Given the description of an element on the screen output the (x, y) to click on. 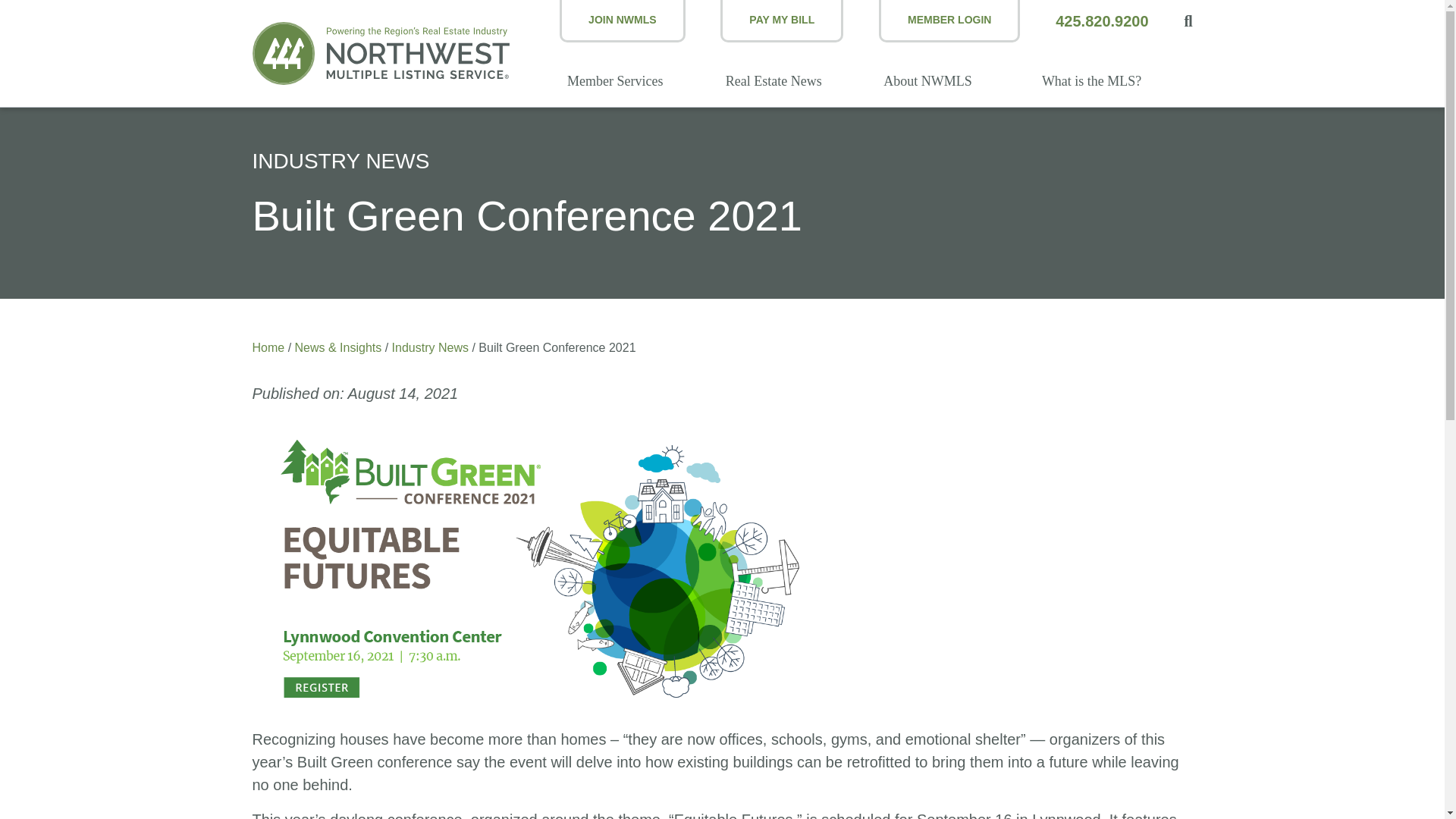
425.820.9200 (1101, 20)
JOIN NWMLS (621, 21)
PAY MY BILL (781, 21)
MEMBER LOGIN (949, 21)
What is the MLS? (1112, 86)
About NWMLS (954, 86)
Industry News (429, 347)
Member Services (638, 86)
Real Estate News (796, 86)
Home (267, 347)
